Given the description of an element on the screen output the (x, y) to click on. 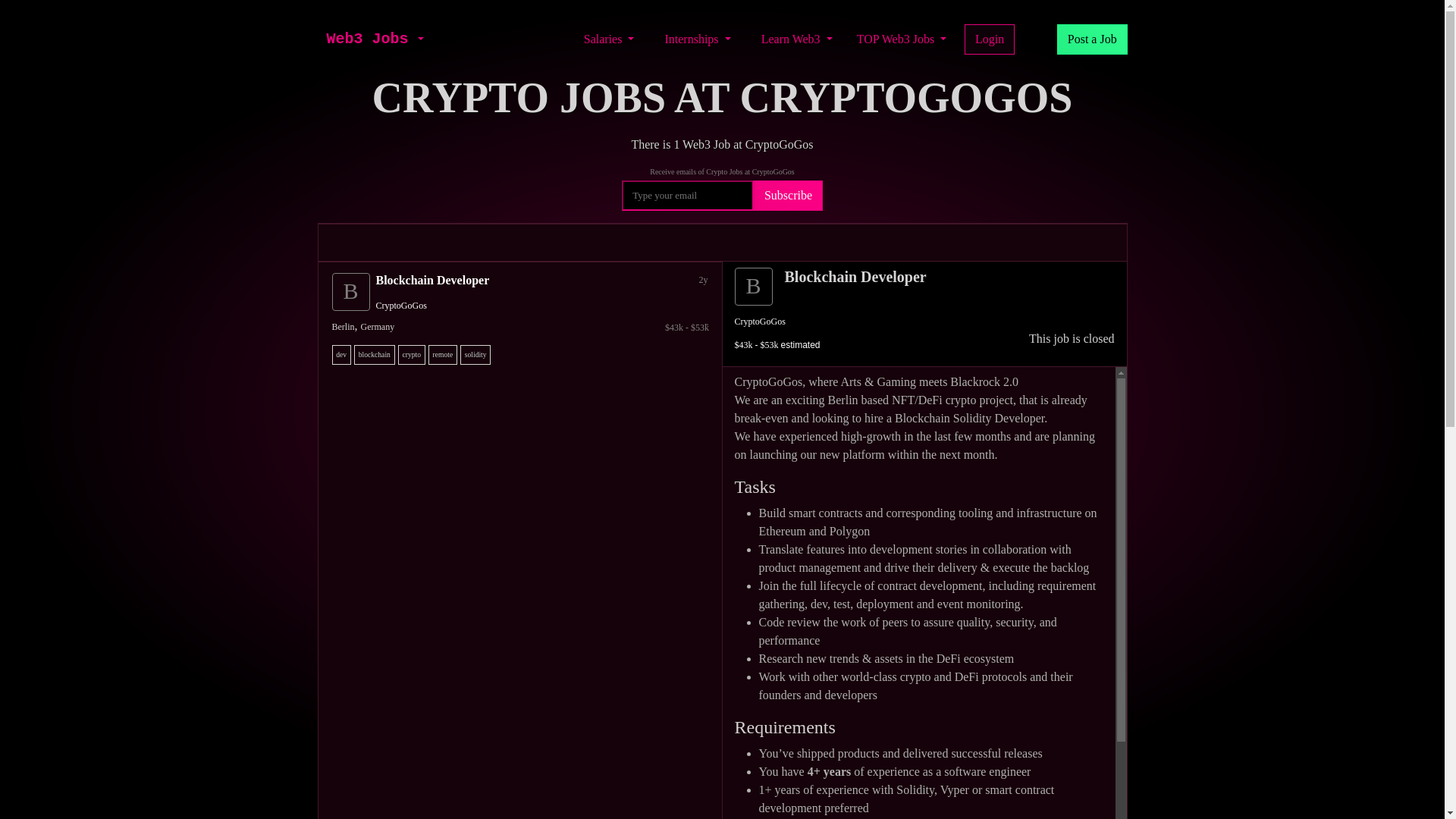
Salaries (609, 39)
Subscribe (788, 195)
Estimated compensation based on similar jobs (776, 345)
Web3 Jobs (366, 39)
Internships (697, 39)
Estimated salary based on similar jobs (522, 327)
Learn Web3 (796, 39)
